Given the description of an element on the screen output the (x, y) to click on. 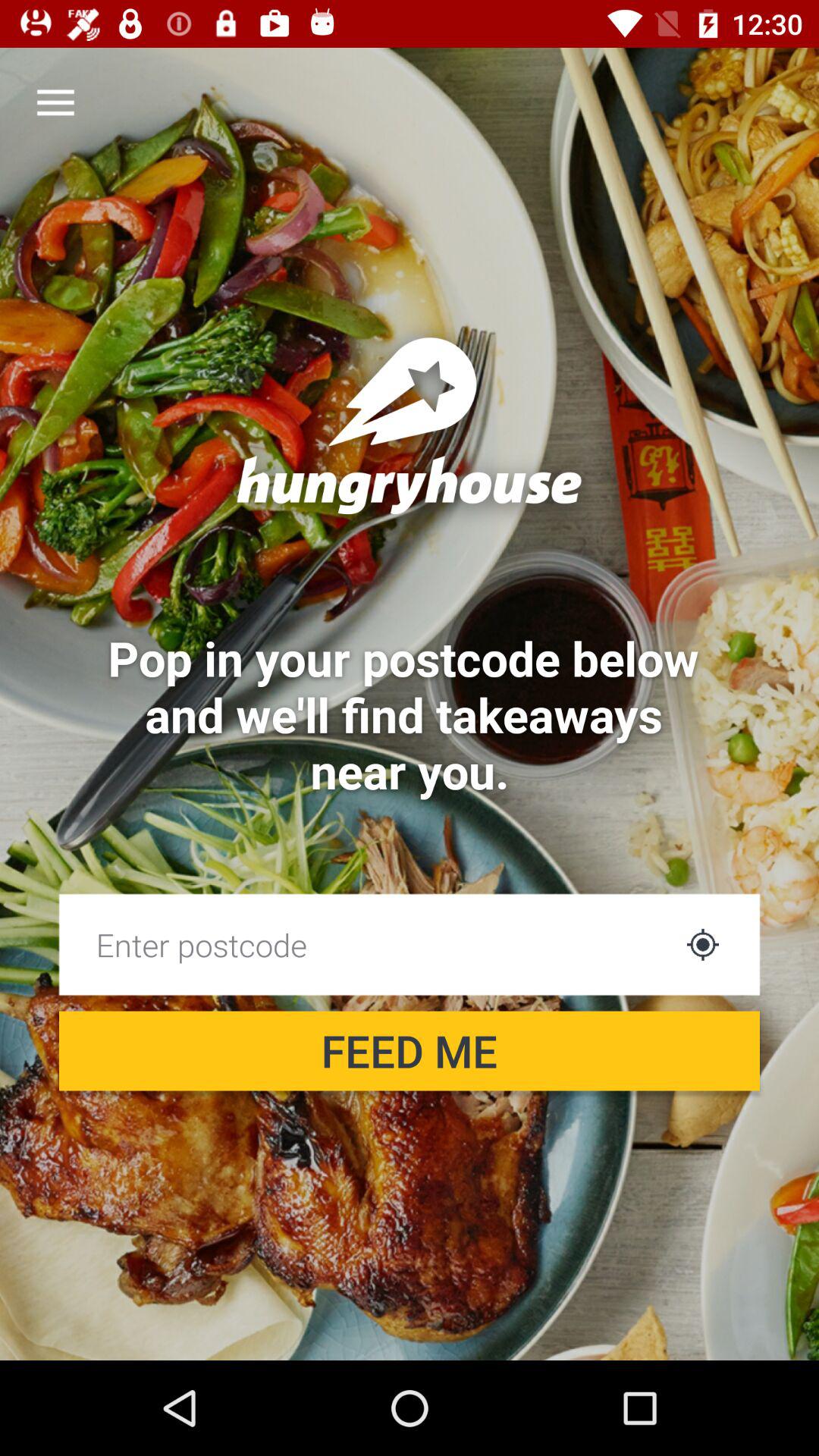
enter code (365, 944)
